Given the description of an element on the screen output the (x, y) to click on. 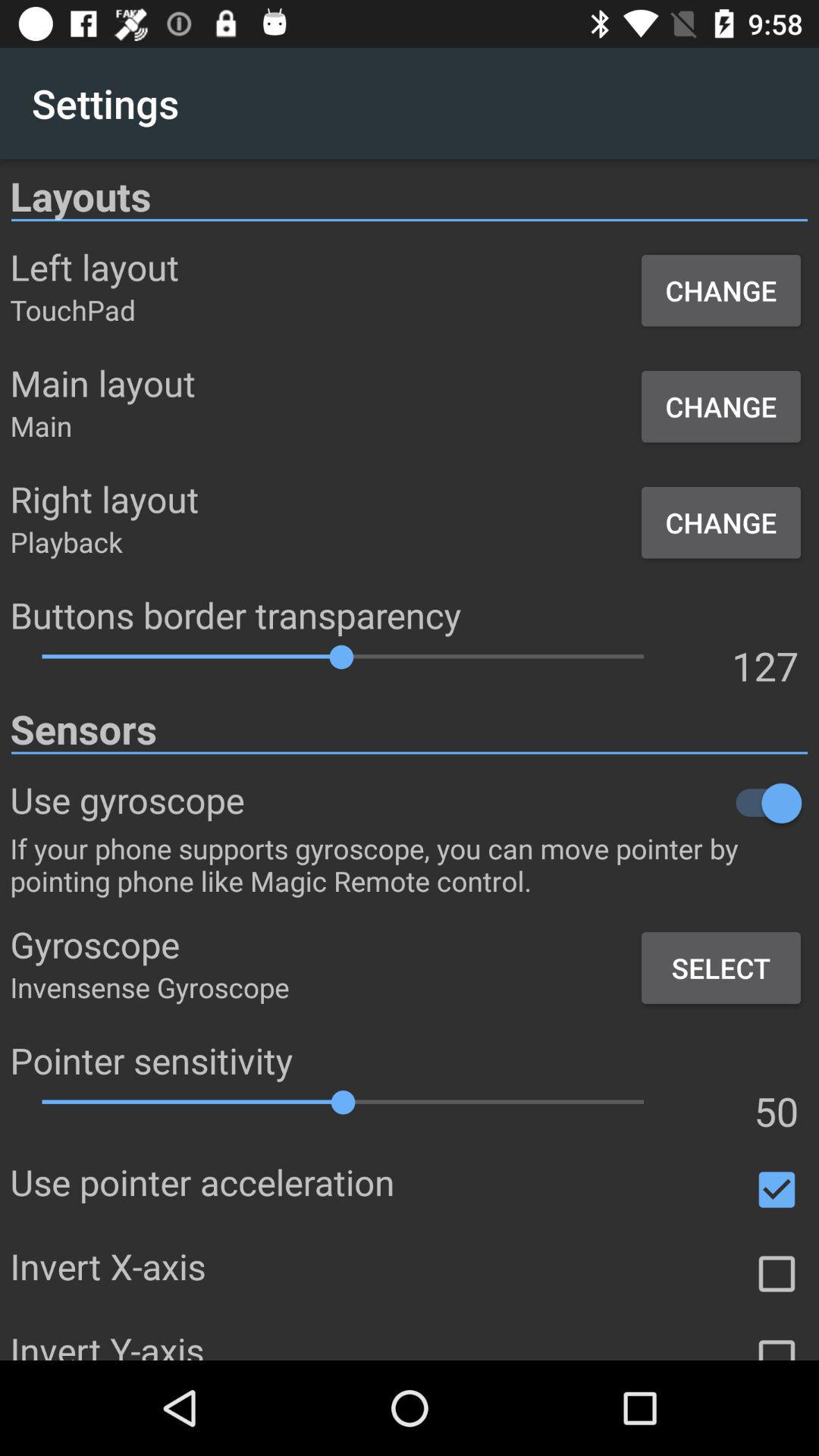
box to check for different options (776, 1273)
